Given the description of an element on the screen output the (x, y) to click on. 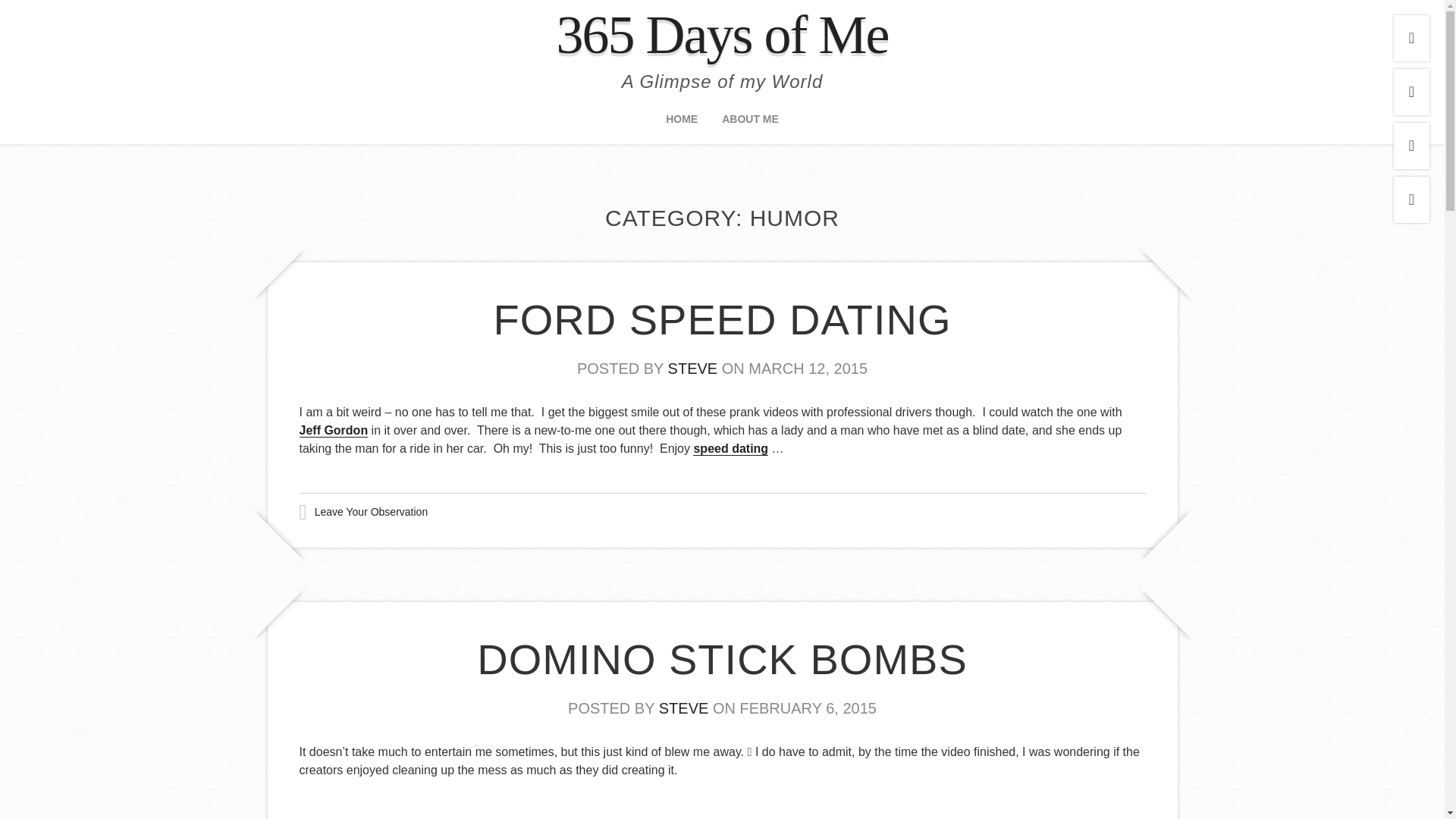
ABOUT ME (750, 123)
365 Days of Me (722, 35)
DOMINO STICK BOMBS (722, 659)
Jeff Gordon - Test Drive (333, 430)
speed dating (730, 448)
Speed Dating (730, 448)
STEVE (684, 708)
Leave Your Observation (371, 512)
FORD SPEED DATING (721, 319)
365 Days of Me (722, 35)
